Given the description of an element on the screen output the (x, y) to click on. 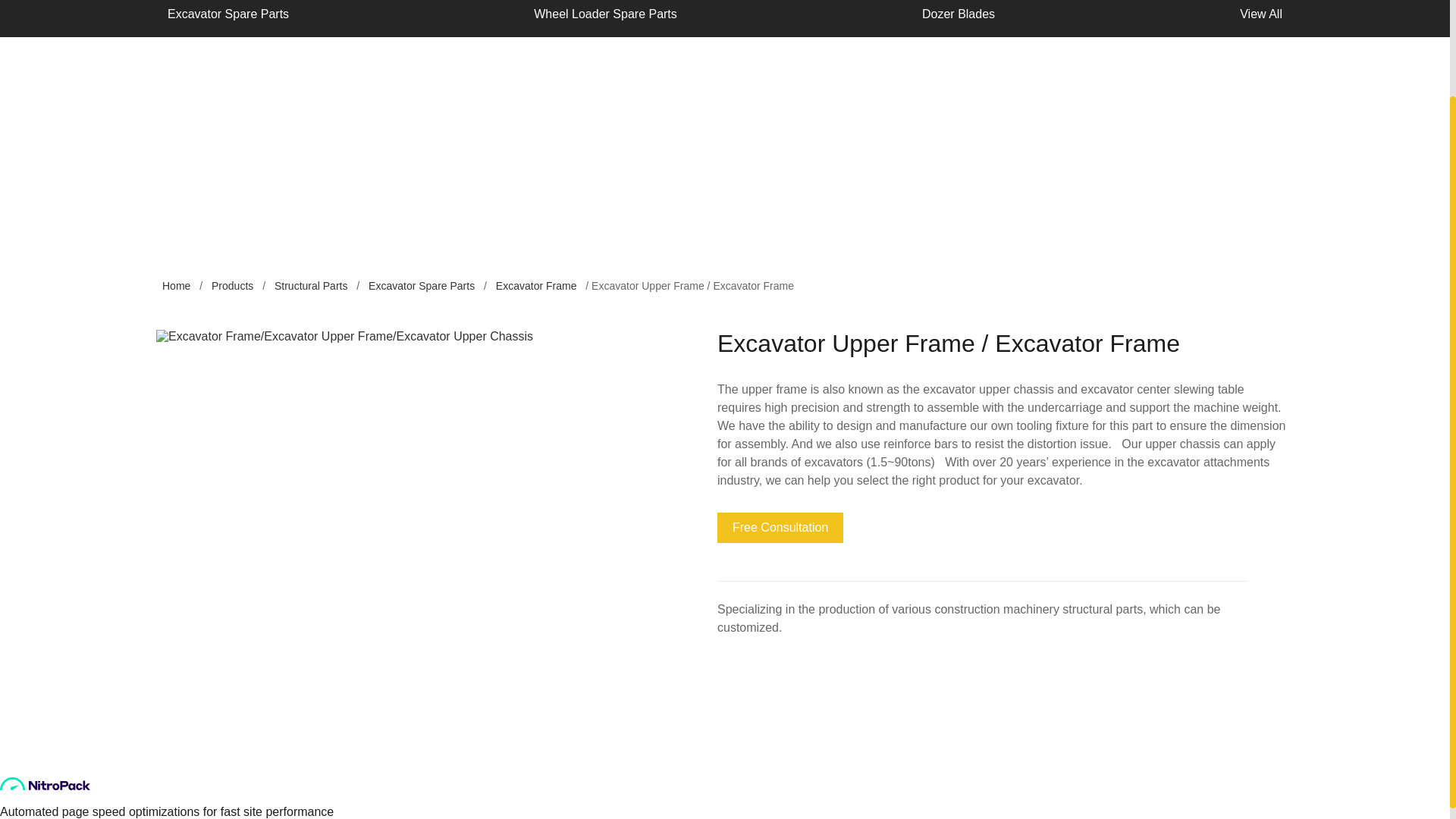
Free Consultation (780, 527)
Dozer Blades (958, 18)
Home (175, 285)
Wheel Loader Spare Parts (605, 18)
Excavator Frame (536, 285)
Products (232, 285)
Excavator Spare Parts (421, 285)
Excavator Spare Parts (227, 18)
Structural Parts (311, 285)
View All (1261, 18)
